Given the description of an element on the screen output the (x, y) to click on. 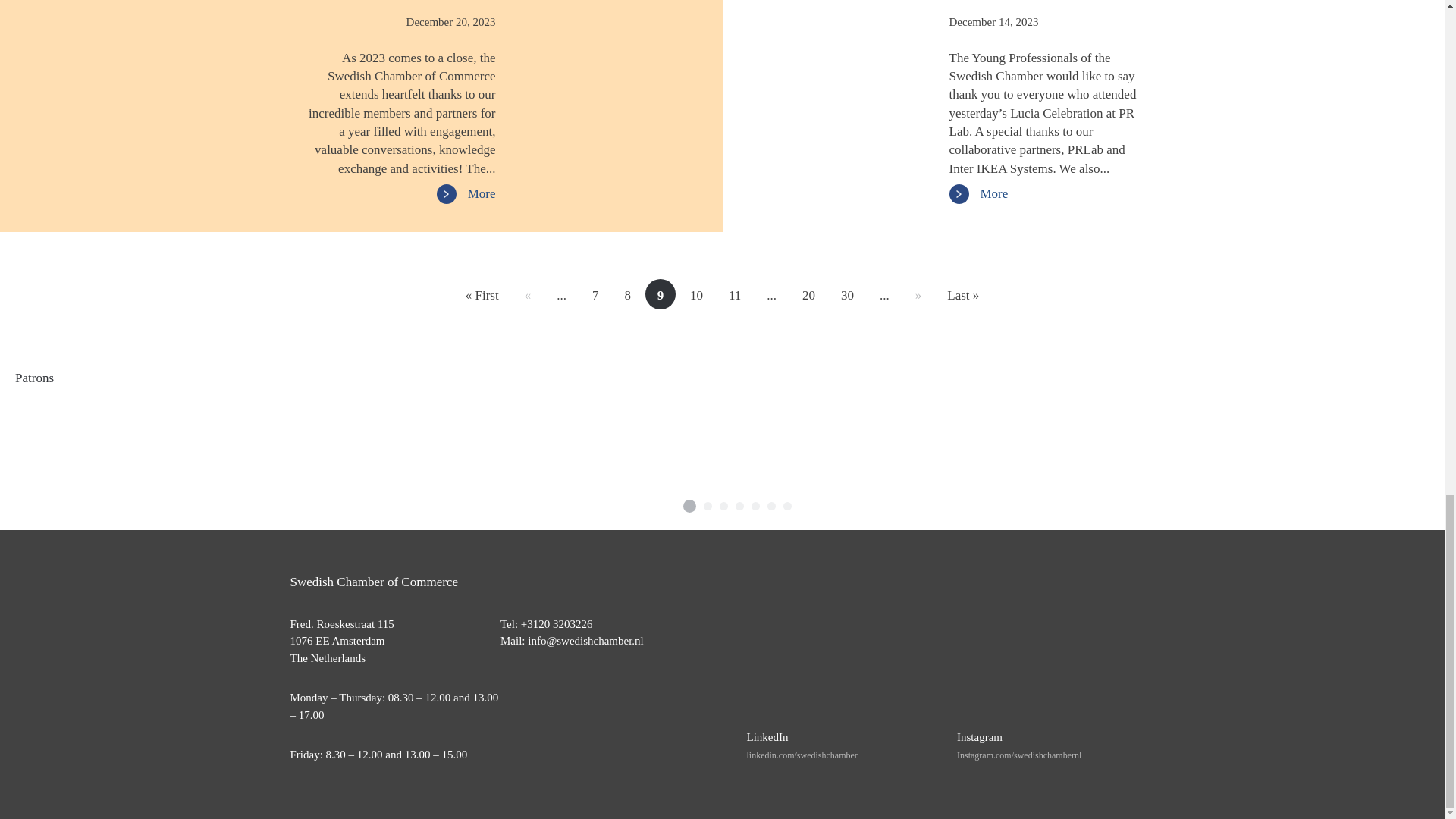
Page 30 (846, 295)
Page 8 (627, 295)
7 (595, 295)
11 (734, 295)
8 (627, 295)
Page 20 (808, 295)
Page 7 (595, 295)
Page 10 (696, 295)
Page 11 (734, 295)
